Given the description of an element on the screen output the (x, y) to click on. 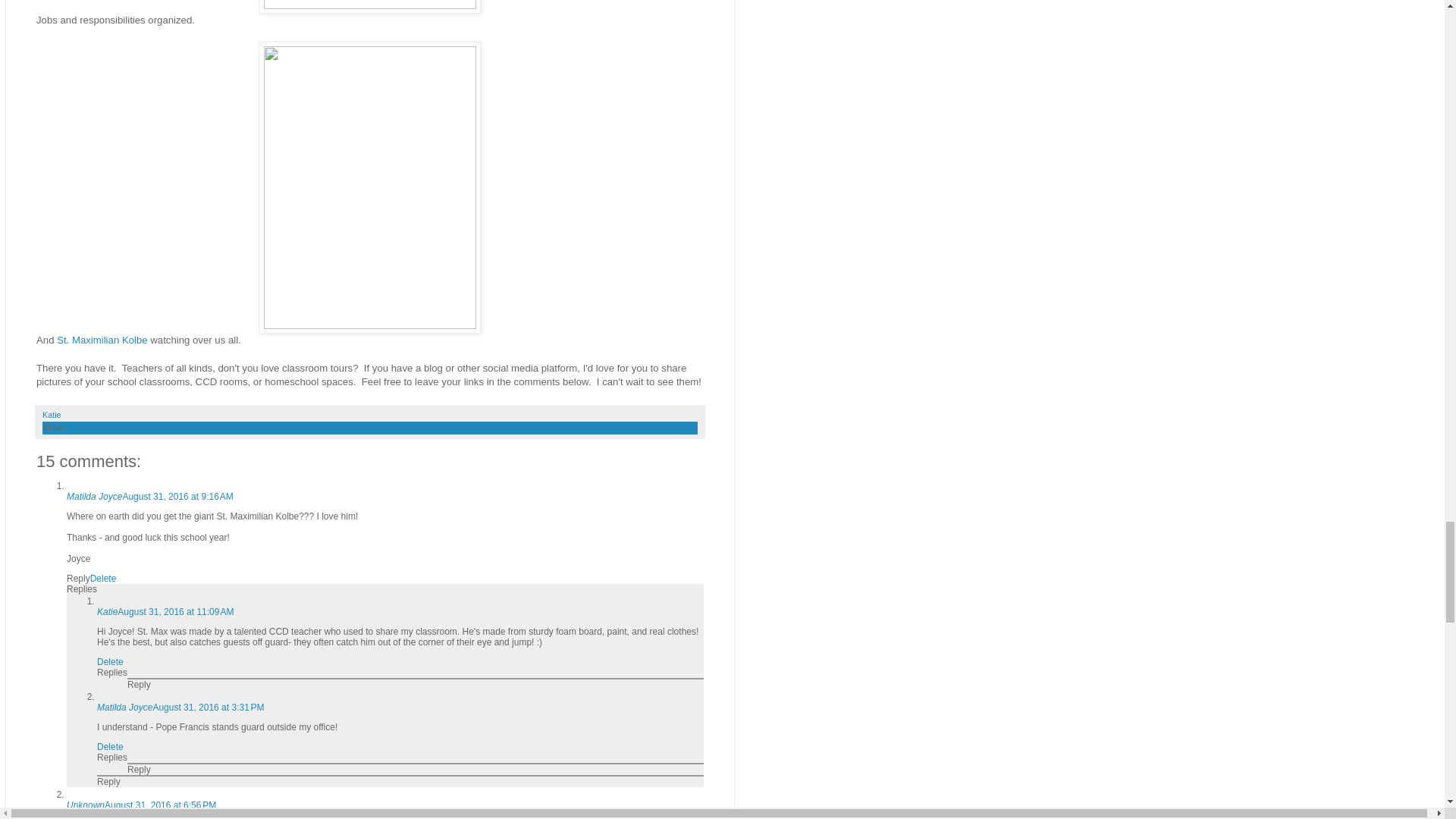
author profile (51, 414)
Delete (110, 661)
Delete (103, 578)
Replies (112, 672)
Share (53, 427)
Katie (51, 414)
Katie (107, 611)
Reply (139, 684)
Reply (78, 578)
Replies (81, 588)
Matilda Joyce (124, 706)
St. Maximilian Kolbe (101, 339)
